Given the description of an element on the screen output the (x, y) to click on. 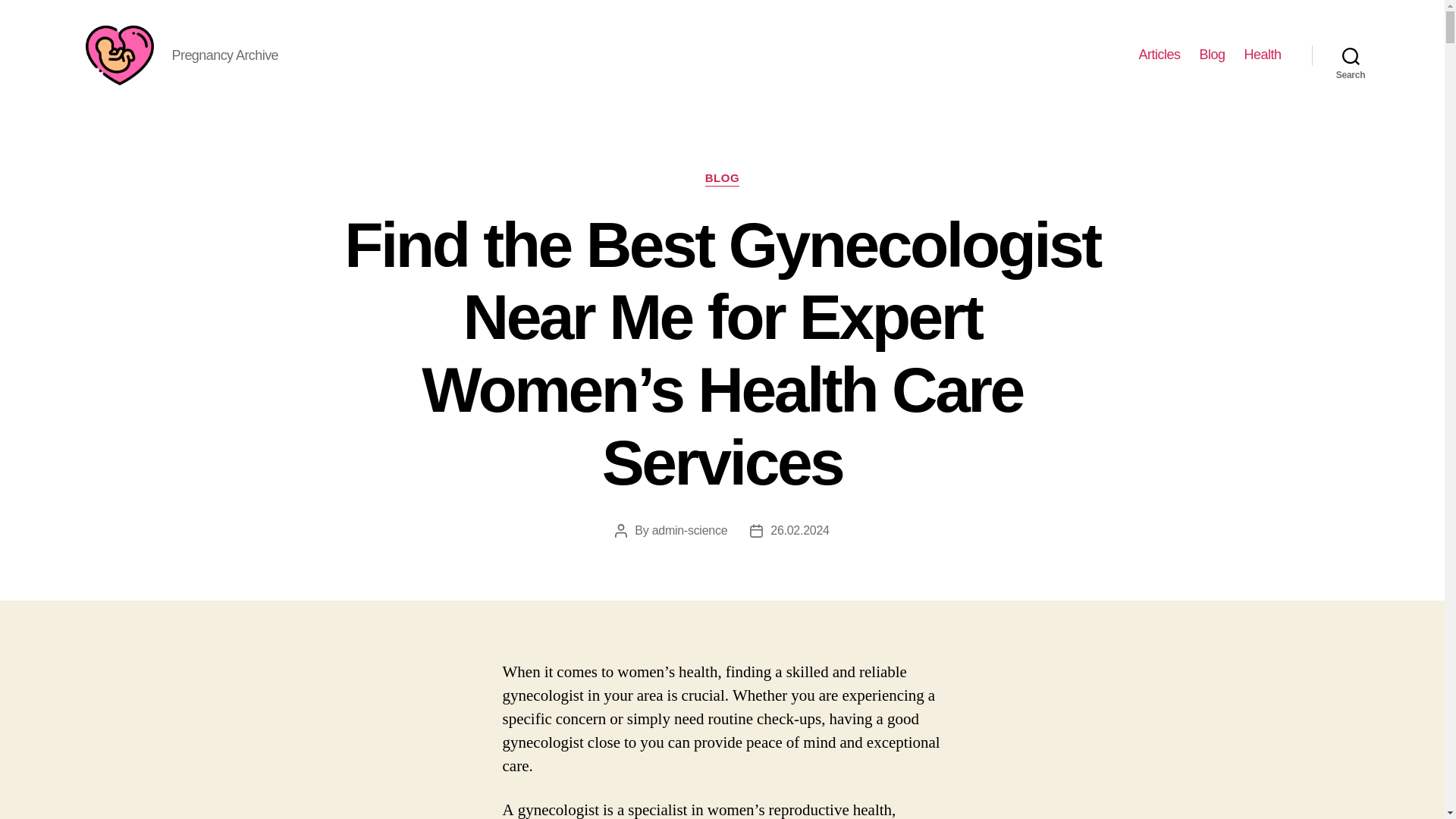
Blog (1211, 54)
Articles (1158, 54)
admin-science (690, 530)
26.02.2024 (799, 530)
BLOG (721, 178)
Search (1350, 55)
Health (1262, 54)
